Given the description of an element on the screen output the (x, y) to click on. 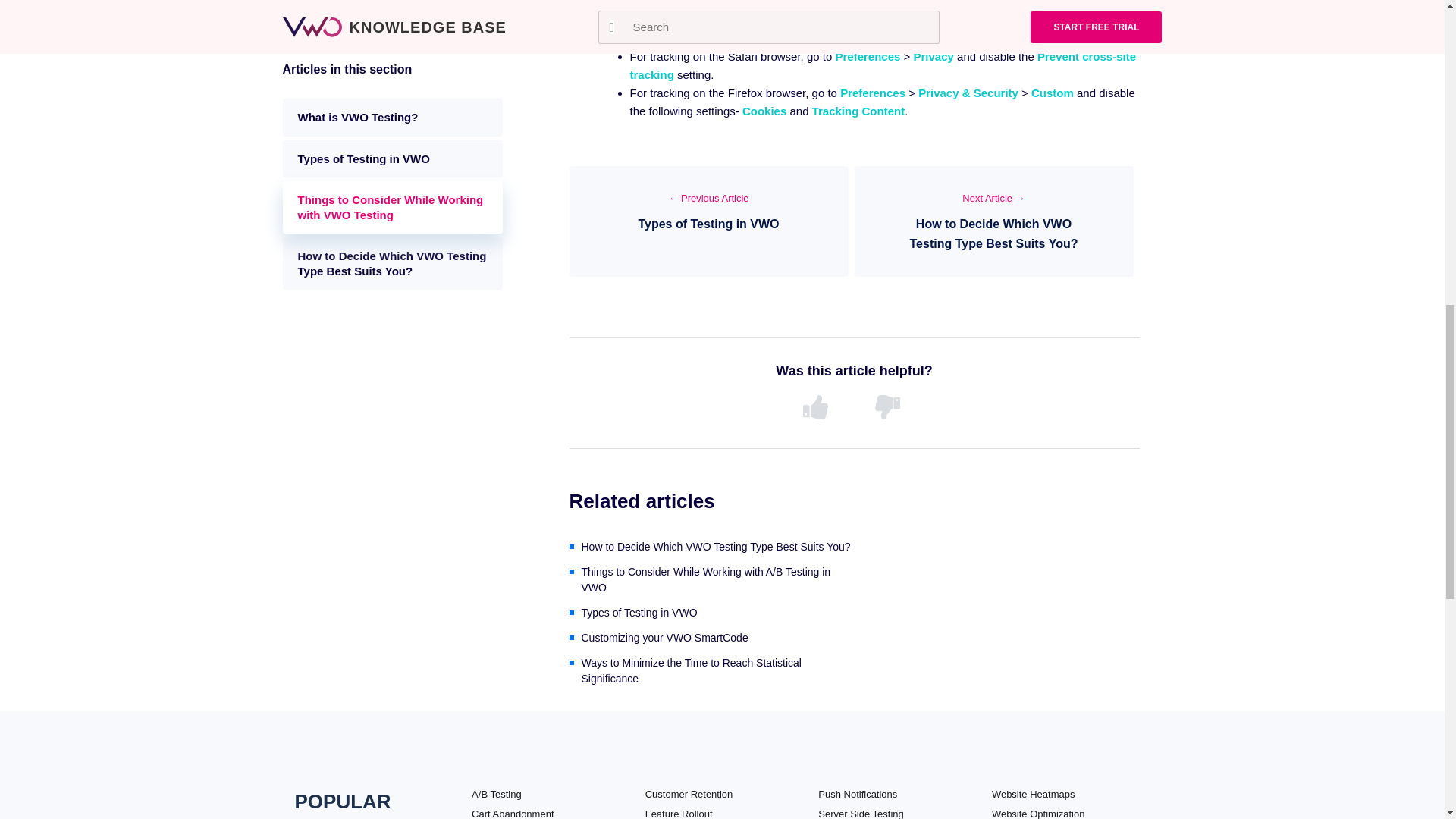
Ways to Minimize the Time to Reach Statistical Significance (711, 671)
Customizing your VWO SmartCode (711, 637)
Types of Testing in VWO (711, 612)
How to Decide Which VWO Testing Type Best Suits You? (711, 546)
Customer Retention (689, 794)
Feature Rollout (679, 812)
Yes (817, 407)
Cart Abandonment (512, 812)
No (890, 407)
